Given the description of an element on the screen output the (x, y) to click on. 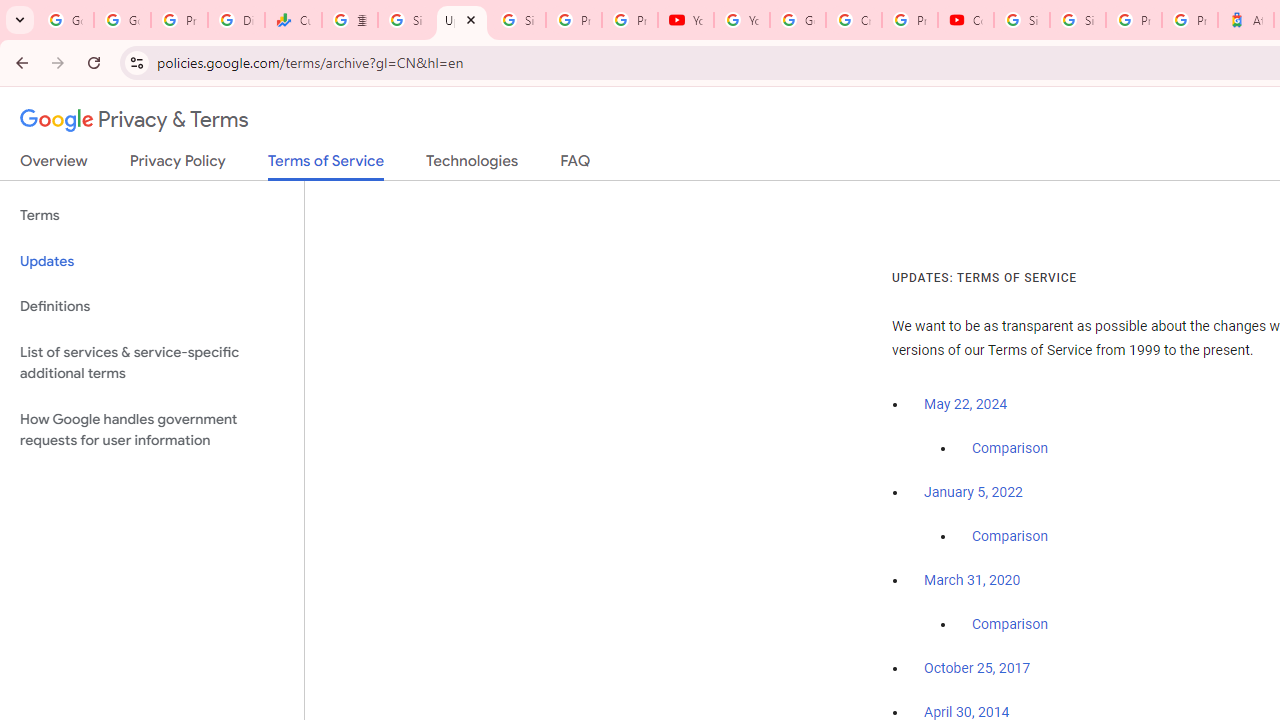
YouTube (685, 20)
Sign in - Google Accounts (405, 20)
Comparison (1009, 625)
January 5, 2022 (973, 492)
Google Workspace Admin Community (65, 20)
May 22, 2024 (966, 404)
